Given the description of an element on the screen output the (x, y) to click on. 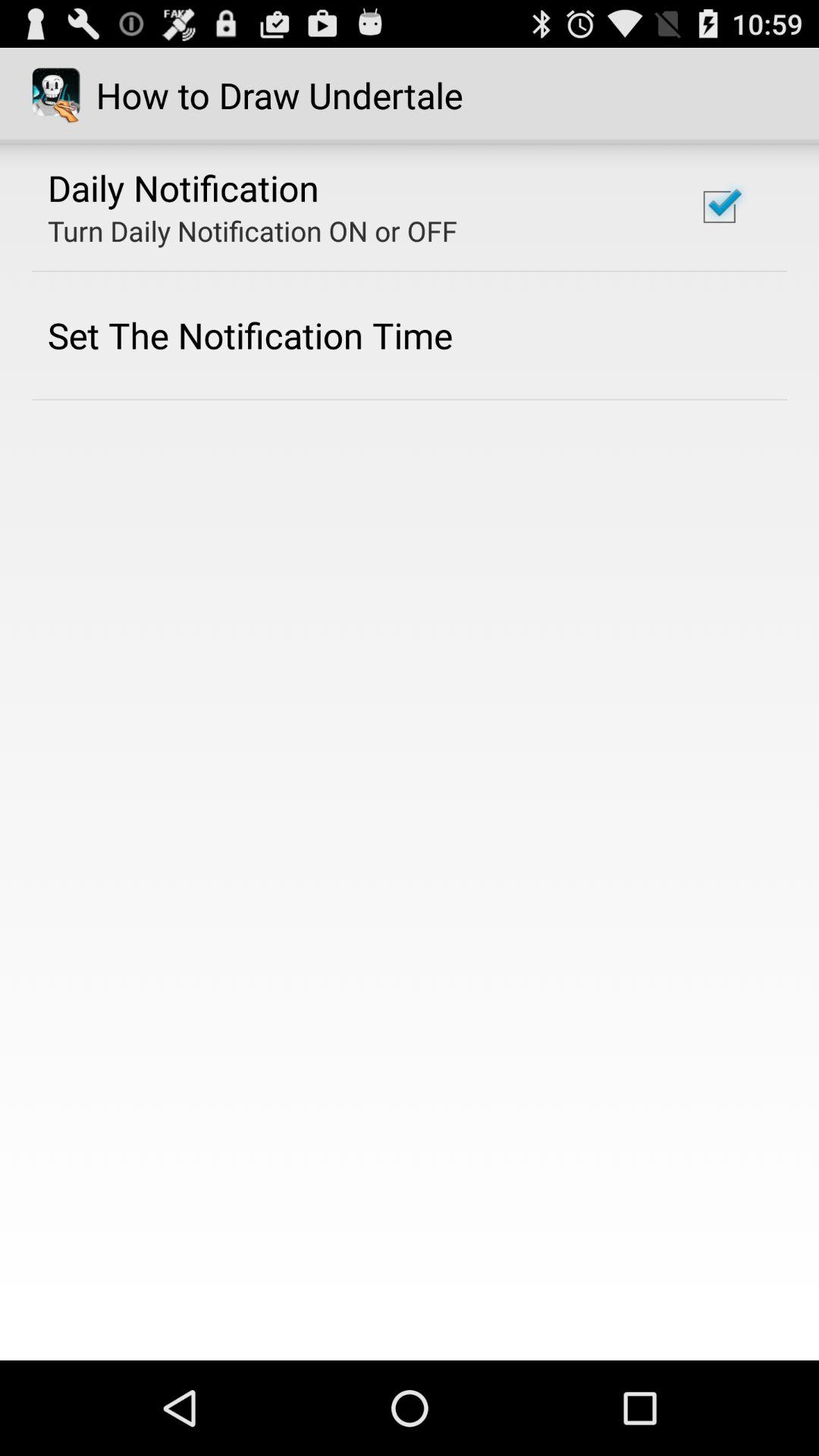
turn off set the notification icon (249, 335)
